Given the description of an element on the screen output the (x, y) to click on. 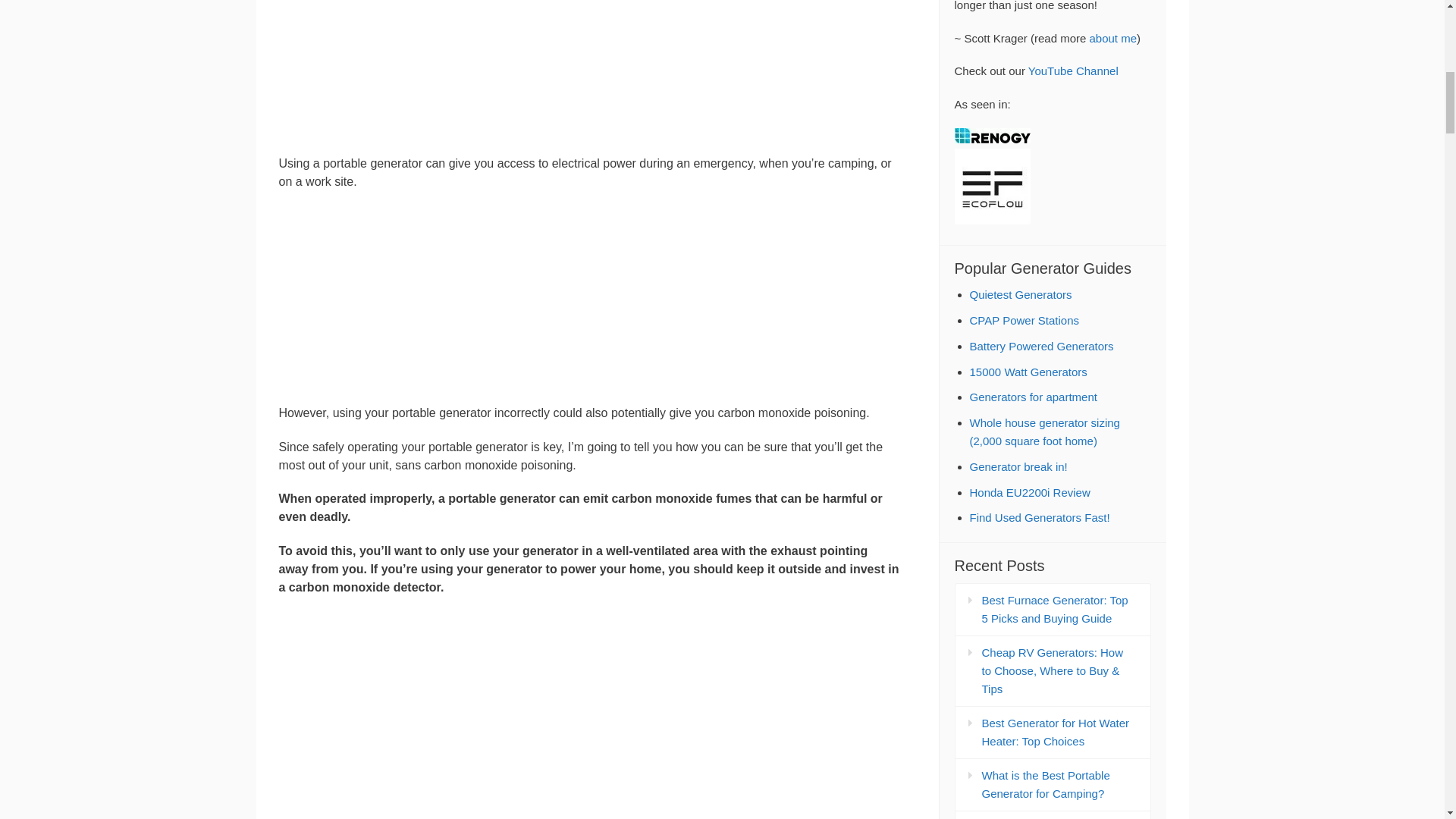
Find used generators (1039, 517)
Whole house generator sizing (1044, 431)
Generators for apartment (1032, 396)
Honda EU2200i Review (1029, 492)
Generator break in (1018, 466)
